Given the description of an element on the screen output the (x, y) to click on. 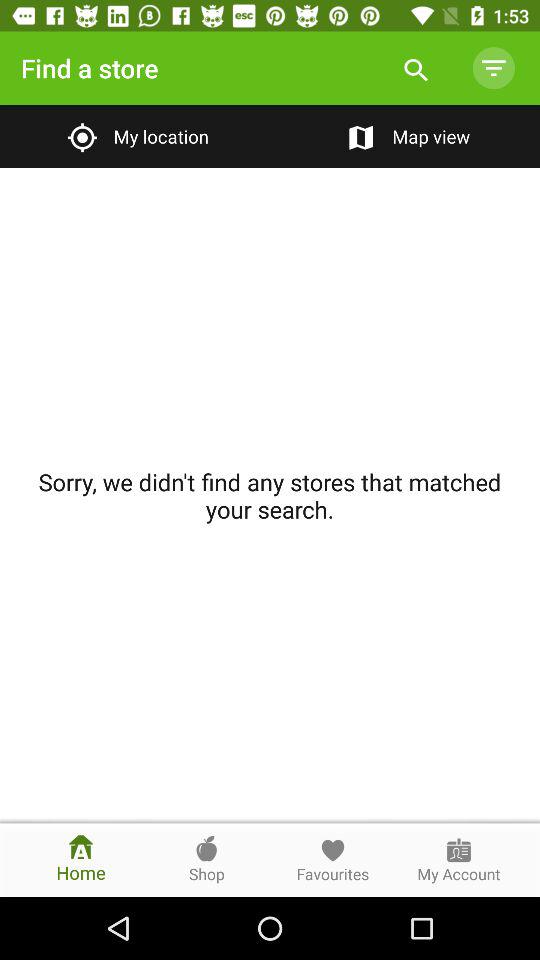
select item next to my location item (404, 136)
